Given the description of an element on the screen output the (x, y) to click on. 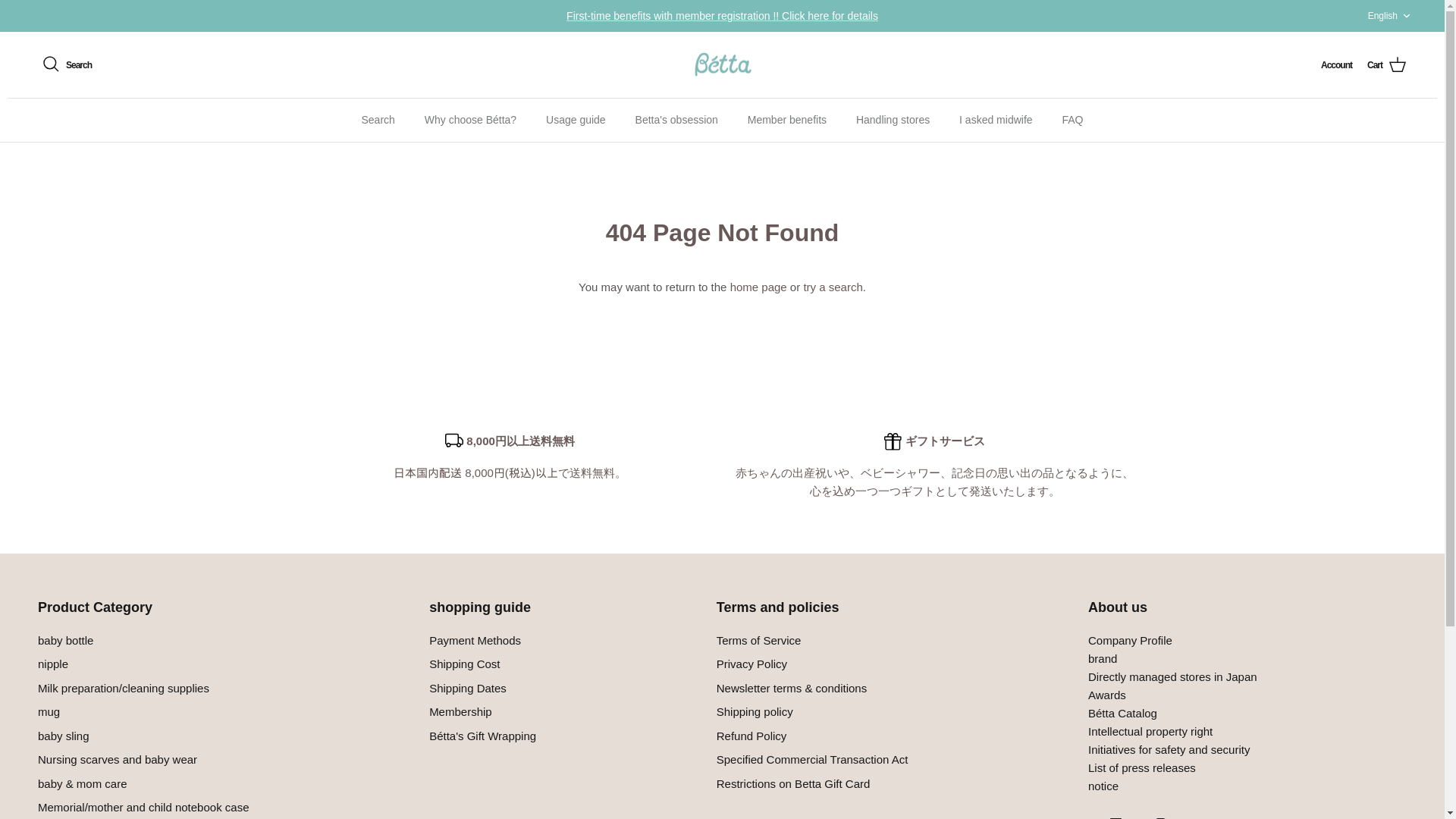
Awards (1122, 712)
List of press releases (1141, 767)
Initiatives for safety and security (1168, 748)
Awards (1106, 694)
Directly managed stores in Japan (1172, 676)
Company Profile (1129, 640)
notice (1102, 785)
About the brand (1101, 658)
Betta Baby Store (721, 64)
